Given the description of an element on the screen output the (x, y) to click on. 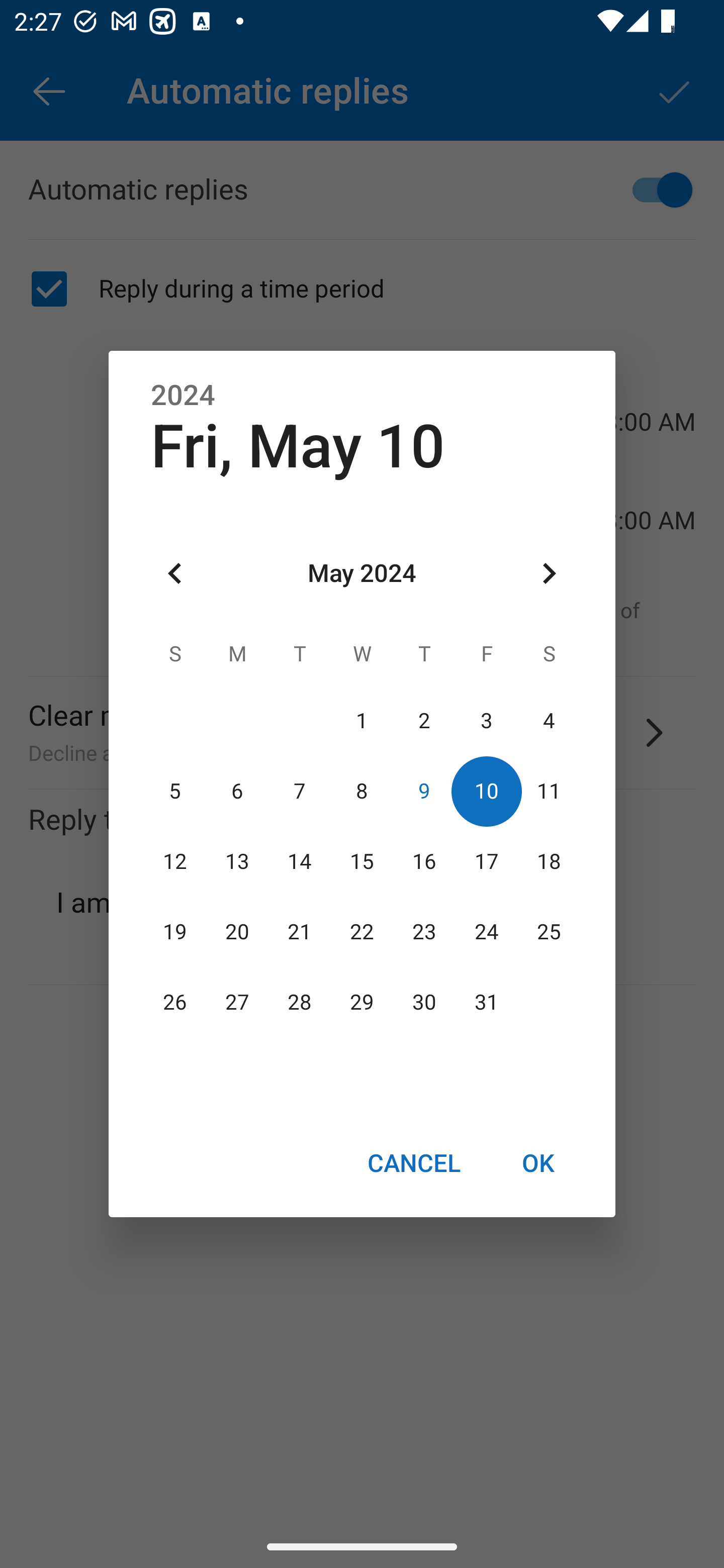
2024 (182, 395)
Fri, May 10 (297, 446)
Previous month (174, 573)
Next month (548, 573)
1 01 May 2024 (361, 720)
2 02 May 2024 (424, 720)
3 03 May 2024 (486, 720)
4 04 May 2024 (548, 720)
5 05 May 2024 (175, 790)
6 06 May 2024 (237, 790)
7 07 May 2024 (299, 790)
8 08 May 2024 (361, 790)
9 09 May 2024 (424, 790)
10 10 May 2024 (486, 790)
11 11 May 2024 (548, 790)
12 12 May 2024 (175, 861)
13 13 May 2024 (237, 861)
14 14 May 2024 (299, 861)
15 15 May 2024 (361, 861)
16 16 May 2024 (424, 861)
17 17 May 2024 (486, 861)
18 18 May 2024 (548, 861)
19 19 May 2024 (175, 931)
20 20 May 2024 (237, 931)
21 21 May 2024 (299, 931)
22 22 May 2024 (361, 931)
23 23 May 2024 (424, 931)
24 24 May 2024 (486, 931)
25 25 May 2024 (548, 931)
26 26 May 2024 (175, 1002)
27 27 May 2024 (237, 1002)
28 28 May 2024 (299, 1002)
29 29 May 2024 (361, 1002)
30 30 May 2024 (424, 1002)
31 31 May 2024 (486, 1002)
CANCEL (413, 1162)
OK (537, 1162)
